Given the description of an element on the screen output the (x, y) to click on. 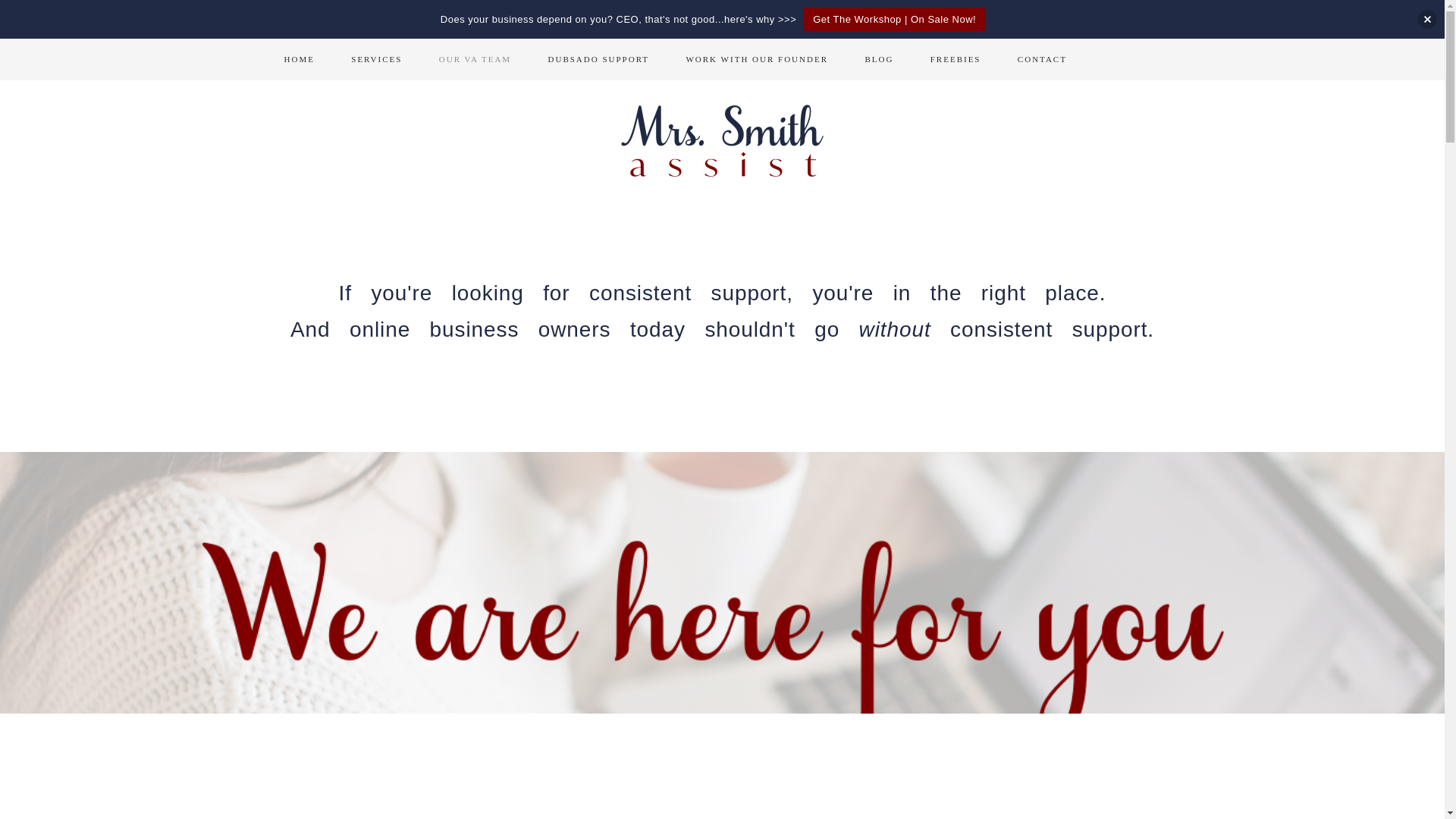
CONTACT (1042, 59)
DUBSADO SUPPORT (598, 59)
Mrs. Smith Assist (721, 141)
BLOG (878, 59)
FREEBIES (955, 59)
HOME (298, 59)
WORK WITH OUR FOUNDER (756, 59)
SERVICES (376, 59)
OUR VA TEAM (474, 59)
